Given the description of an element on the screen output the (x, y) to click on. 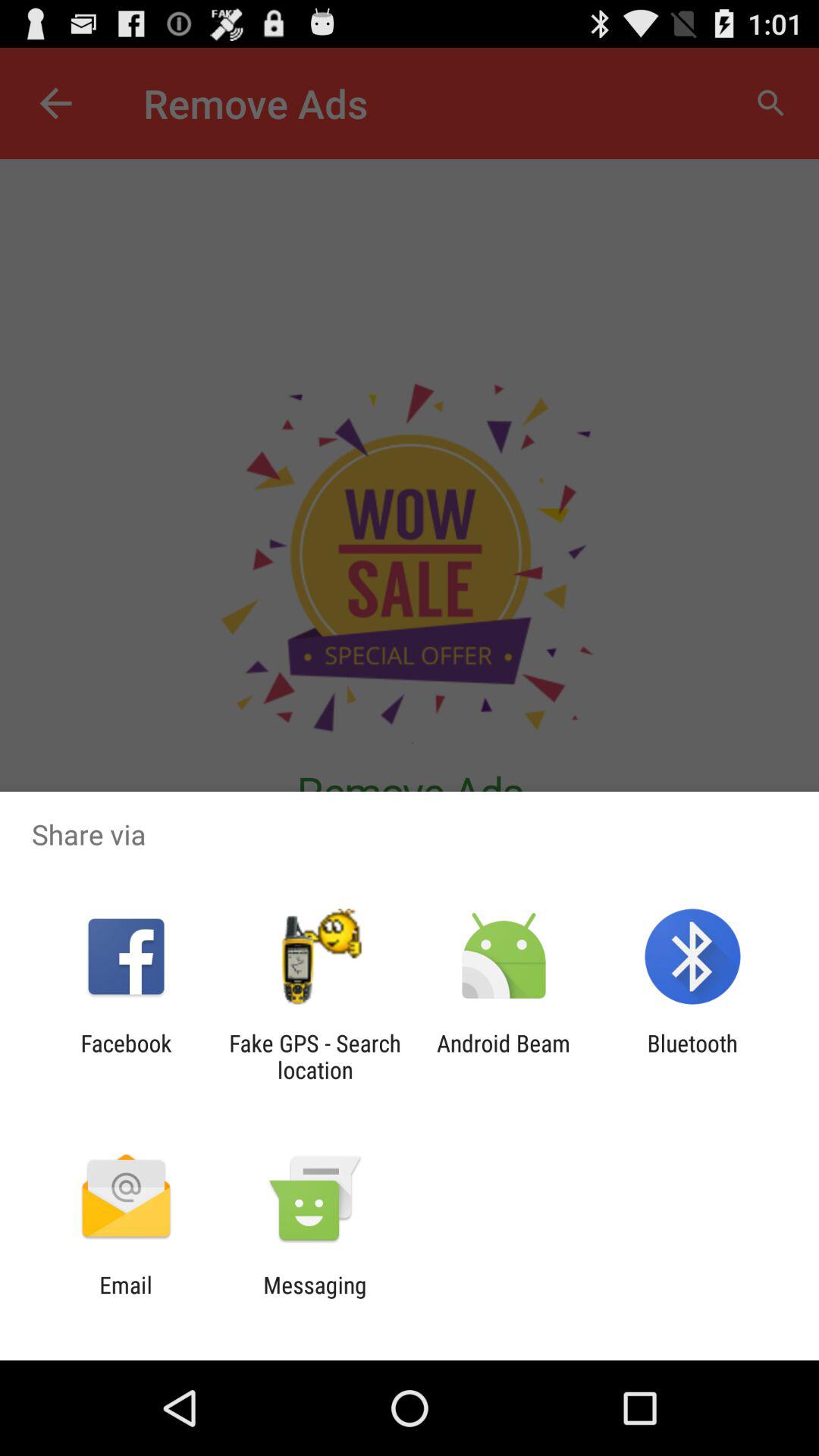
select the item next to android beam app (314, 1056)
